Given the description of an element on the screen output the (x, y) to click on. 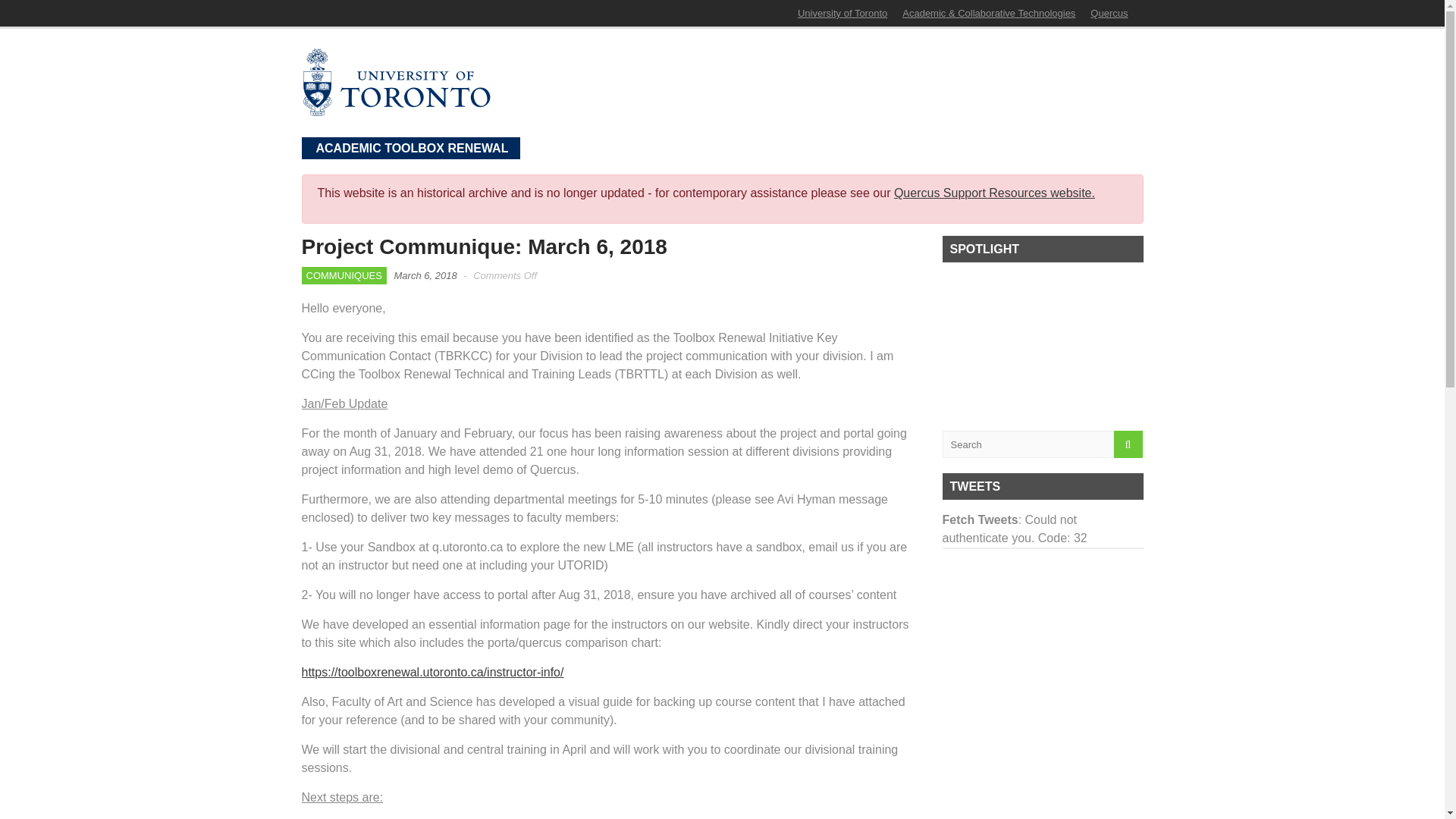
University of Toronto (841, 12)
Quercus (1108, 12)
COMMUNIQUES (343, 275)
Academic Toolbox Renewal (396, 109)
Quercus Support Resources website. (993, 192)
